Given the description of an element on the screen output the (x, y) to click on. 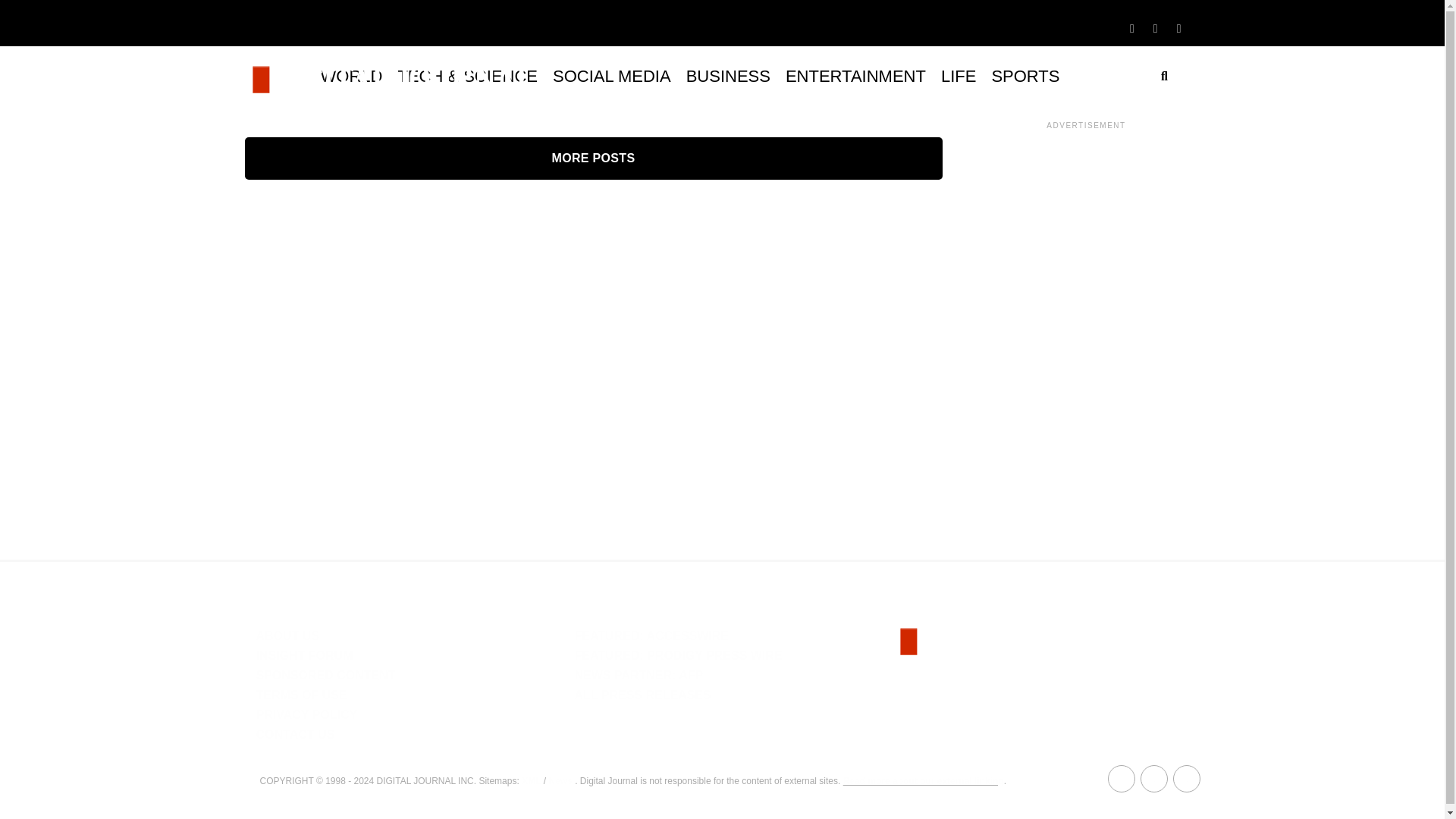
Read more about our external linking (923, 779)
SOCIAL MEDIA (611, 76)
MORE POSTS (593, 158)
SPONSORED CONTENT (326, 675)
WORLD (351, 76)
CONTACT US (295, 734)
SPORTS (1025, 76)
FEATURED: ACCESSWIRE (651, 635)
XML (530, 779)
News (560, 779)
PRIVACY POLICY (307, 714)
FEATURED: PRODIGY PRESS WIRE (677, 655)
ABOUT US (288, 635)
ALL PRESS RELEASES (641, 694)
NEWS PARTNER: AFP (638, 675)
